Given the description of an element on the screen output the (x, y) to click on. 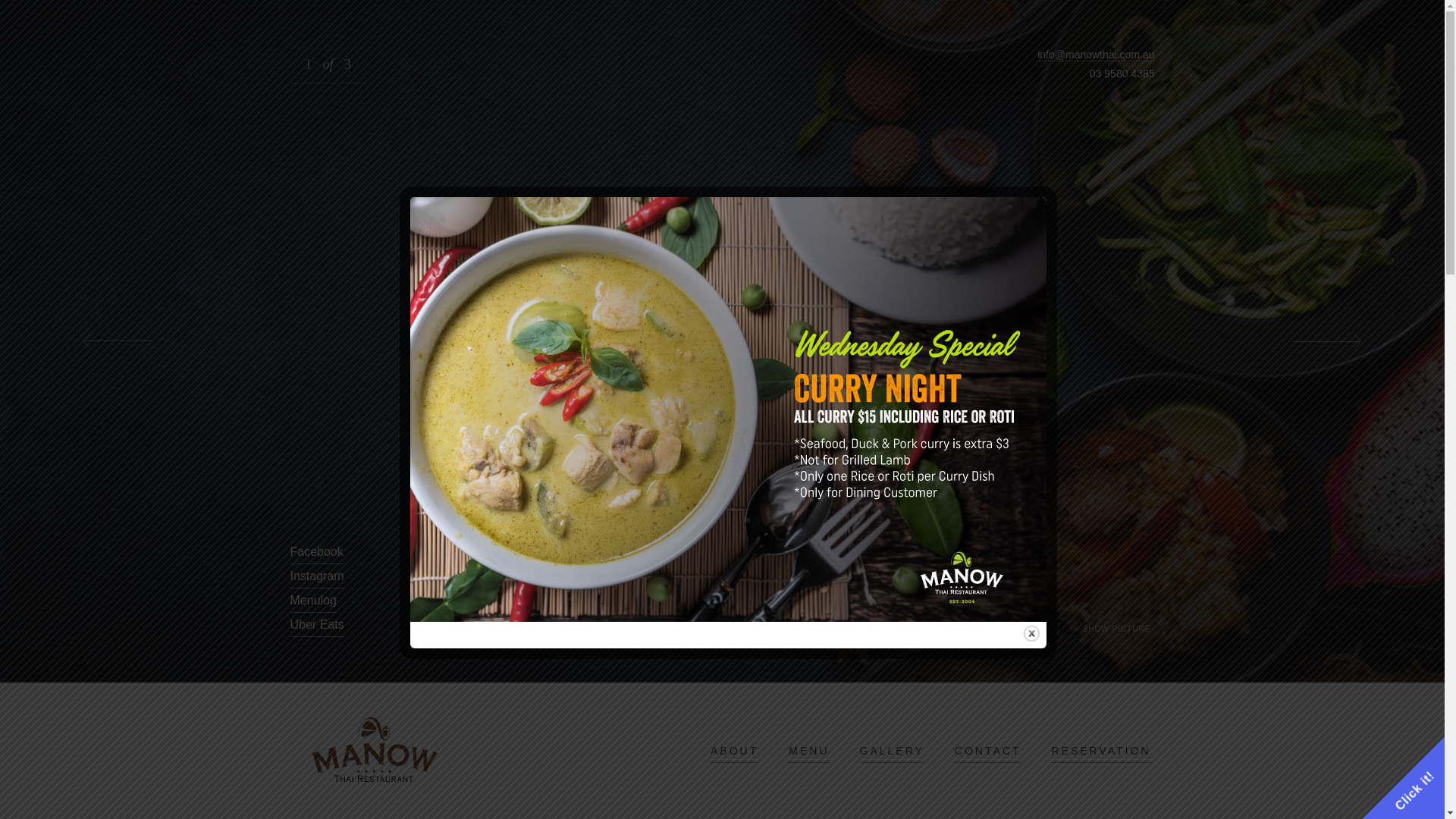
Facebook Element type: text (315, 551)
ABOUT Element type: text (734, 750)
Instagram Element type: text (316, 576)
GALLERY Element type: text (891, 750)
CONTACT Element type: text (987, 750)
Menulog Element type: text (312, 600)
Uber Eats Element type: text (316, 624)
RESERVATION Element type: text (1100, 750)
info@manowthai.com.au Element type: text (1095, 54)
SHOW PICTURE Element type: text (1116, 628)
MENU Element type: text (808, 750)
